Given the description of an element on the screen output the (x, y) to click on. 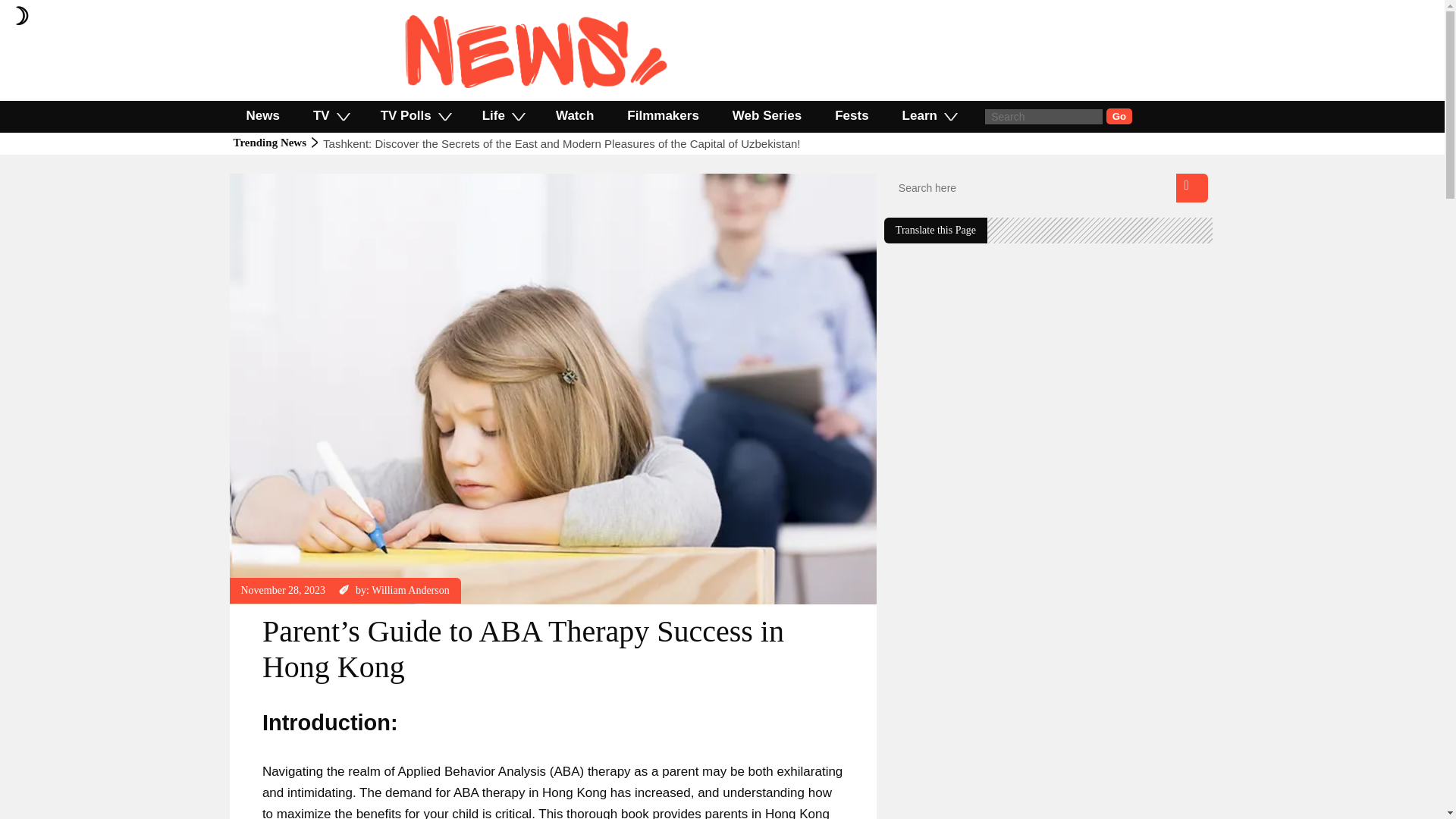
Life (501, 115)
November 28, 2023 (283, 590)
TV (330, 115)
Go (1119, 116)
TV Polls (414, 115)
Filmmakers (663, 115)
Health (255, 180)
Web Series (767, 115)
Learn (928, 115)
Fests (851, 115)
